Given the description of an element on the screen output the (x, y) to click on. 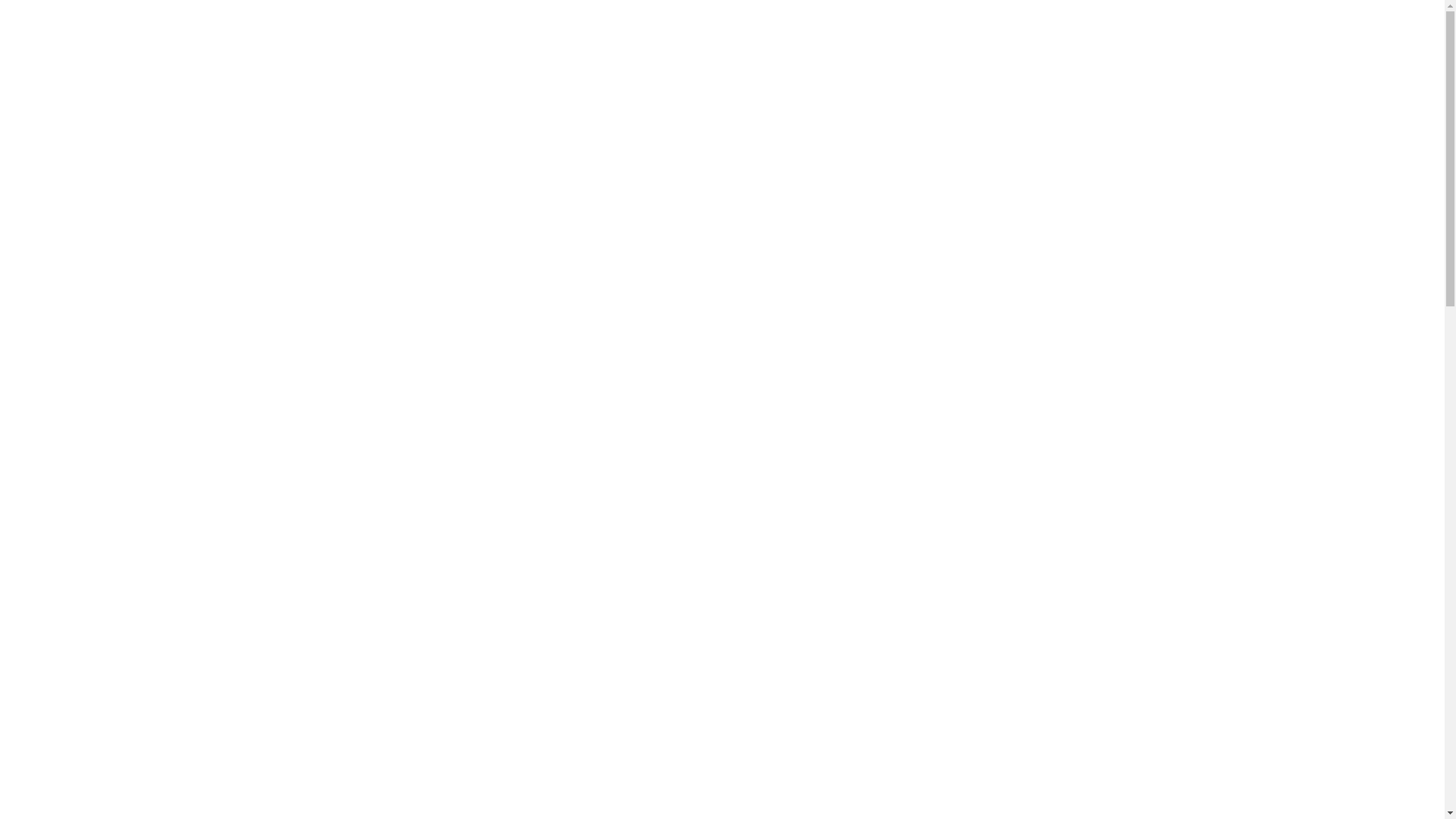
Add to Cart Element type: text (807, 704)
Where We Deliver Element type: text (844, 92)
Search Element type: text (1139, 167)
0 Element type: text (1121, 94)
Log in Element type: hover (1167, 92)
All Element type: text (623, 284)
Home Element type: text (671, 92)
Shop Element type: text (744, 92)
More payment options Element type: text (962, 744)
Contact Element type: text (951, 92)
